Given the description of an element on the screen output the (x, y) to click on. 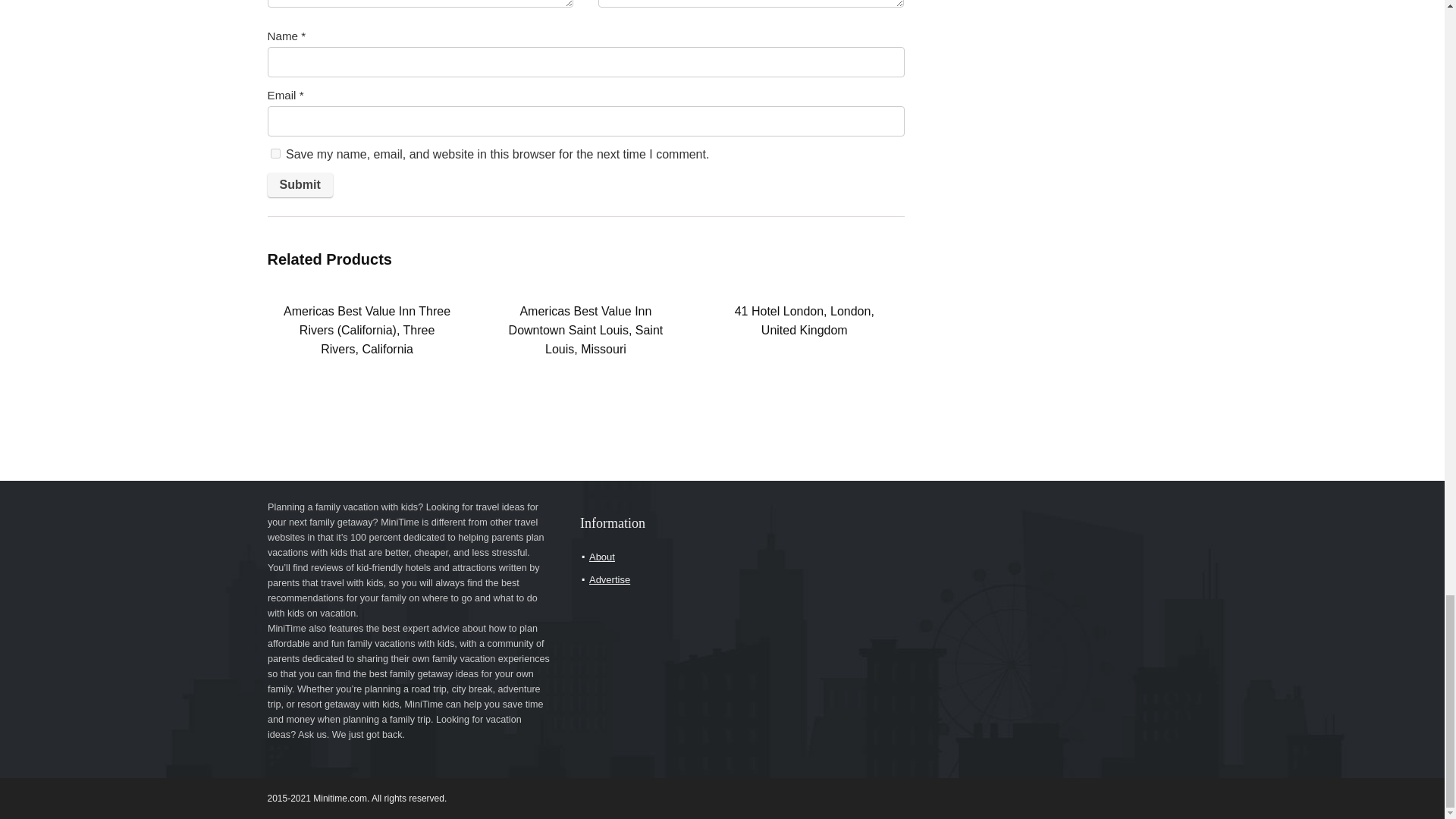
yes (274, 153)
Submit (298, 184)
